Given the description of an element on the screen output the (x, y) to click on. 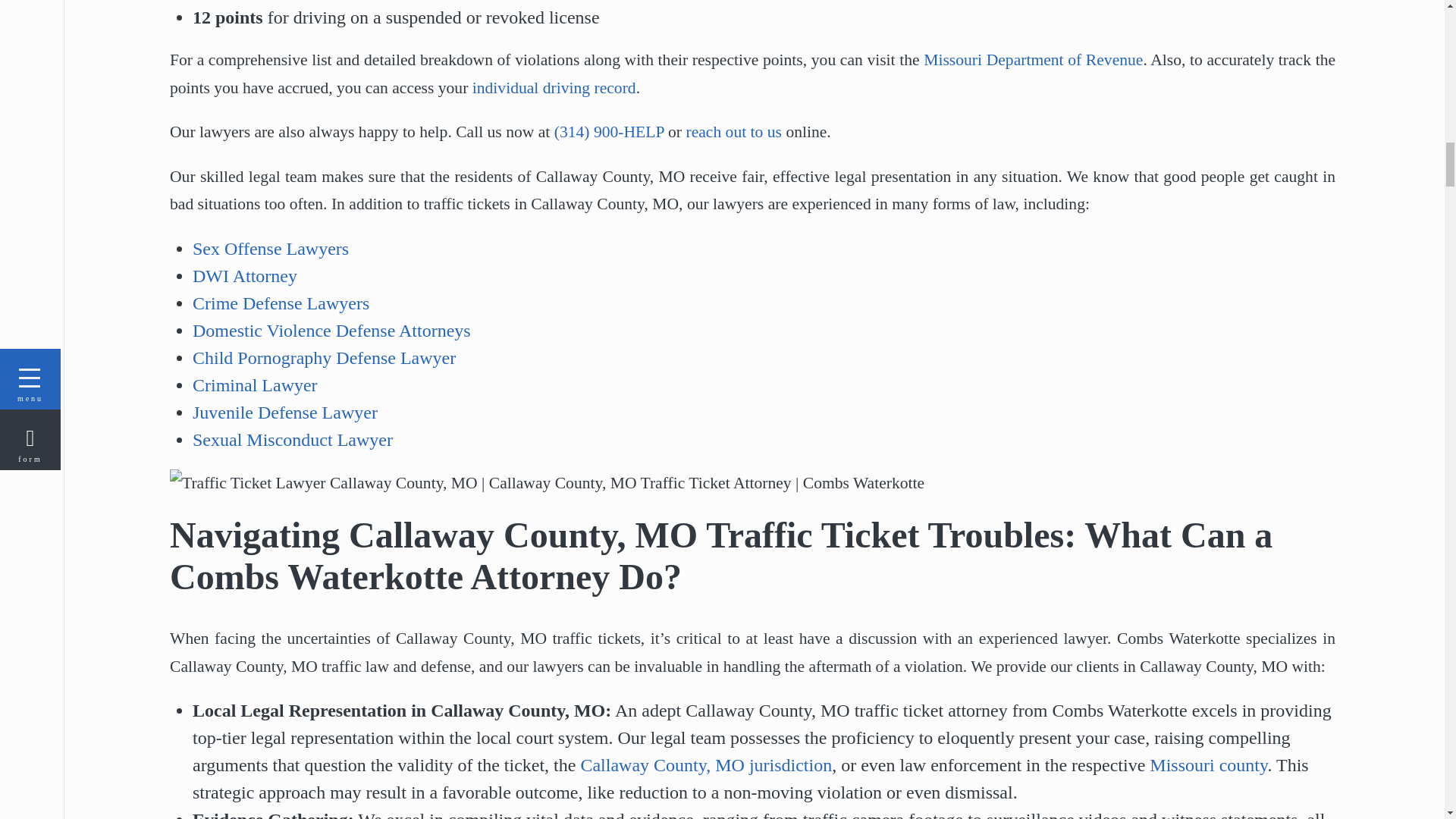
individual driving record (553, 87)
Traffic Ticket Lawyer Callaway County, MO - mo.gov (1032, 59)
Crime Defense Lawyers (280, 302)
Domestic Violence Defense Attorneys (331, 330)
Traffic Ticket Lawyer Callaway County, MO - mo.gov (1208, 764)
reach out to us (733, 131)
Traffic Ticket Lawyer Callaway County, MO - mo.gov (553, 87)
Sex Offense Lawyers (270, 248)
Criminal Lawyer (254, 384)
DWI Attorney (244, 275)
Missouri Department of Revenue (1032, 59)
Missouri county (1208, 764)
Juvenile Defense Lawyer (284, 412)
Traffic Ticket Lawyer Callaway County, MO - STL Muni (705, 764)
Sexual Misconduct Lawyer (292, 439)
